Given the description of an element on the screen output the (x, y) to click on. 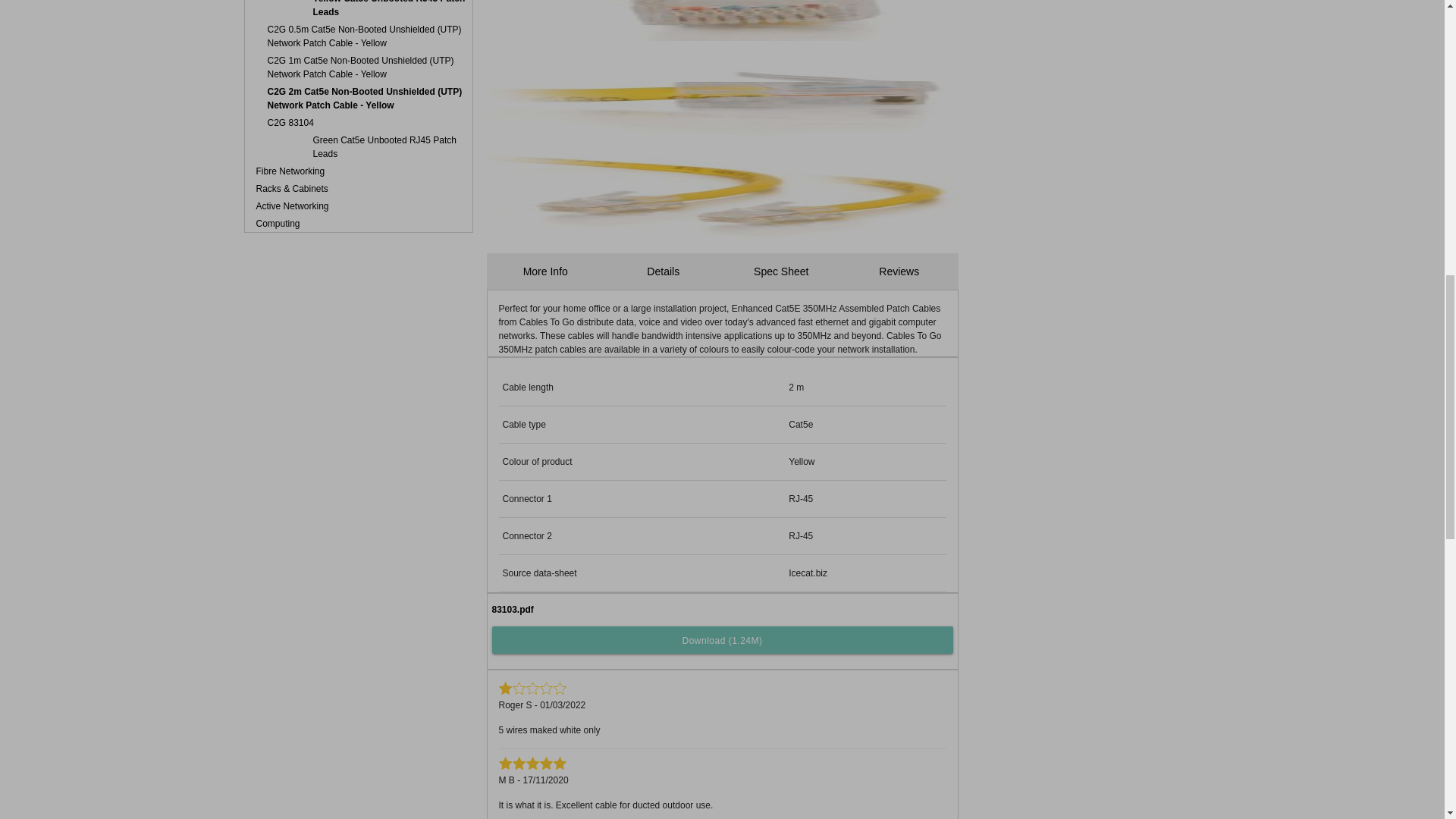
Yellow Cat5e Unbooted RJ45 Patch Leads (357, 10)
